Given the description of an element on the screen output the (x, y) to click on. 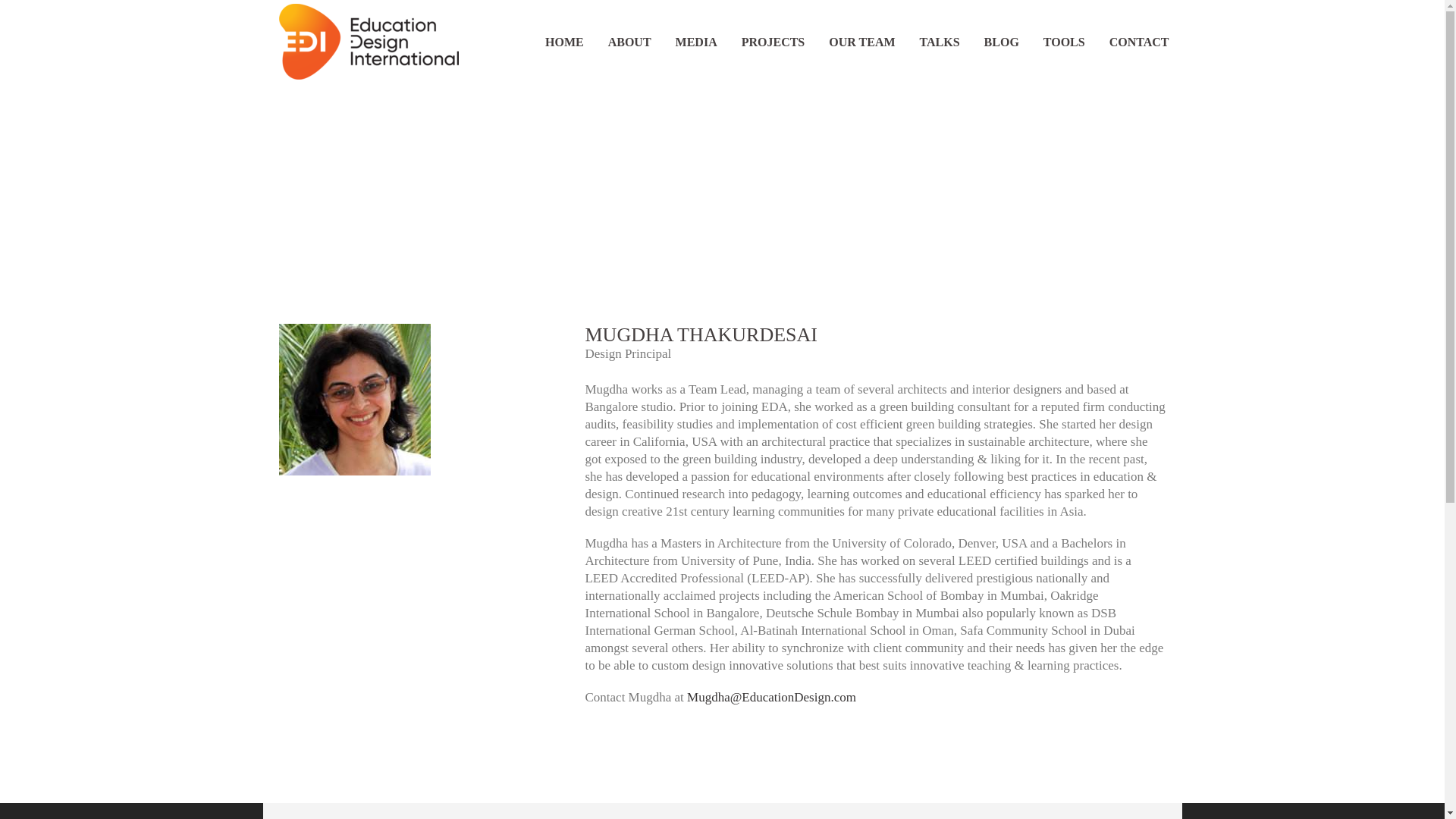
OUR TEAM (860, 40)
PROJECTS (773, 40)
BLOG (1001, 40)
HOME (564, 40)
TALKS (939, 40)
ABOUT (629, 40)
TOOLS (1064, 40)
CONTACT (1138, 40)
MUGDHA THAKURDESA I-- EDUCATION DESIGN INTERNATIONAL (354, 399)
MEDIA (696, 40)
